Given the description of an element on the screen output the (x, y) to click on. 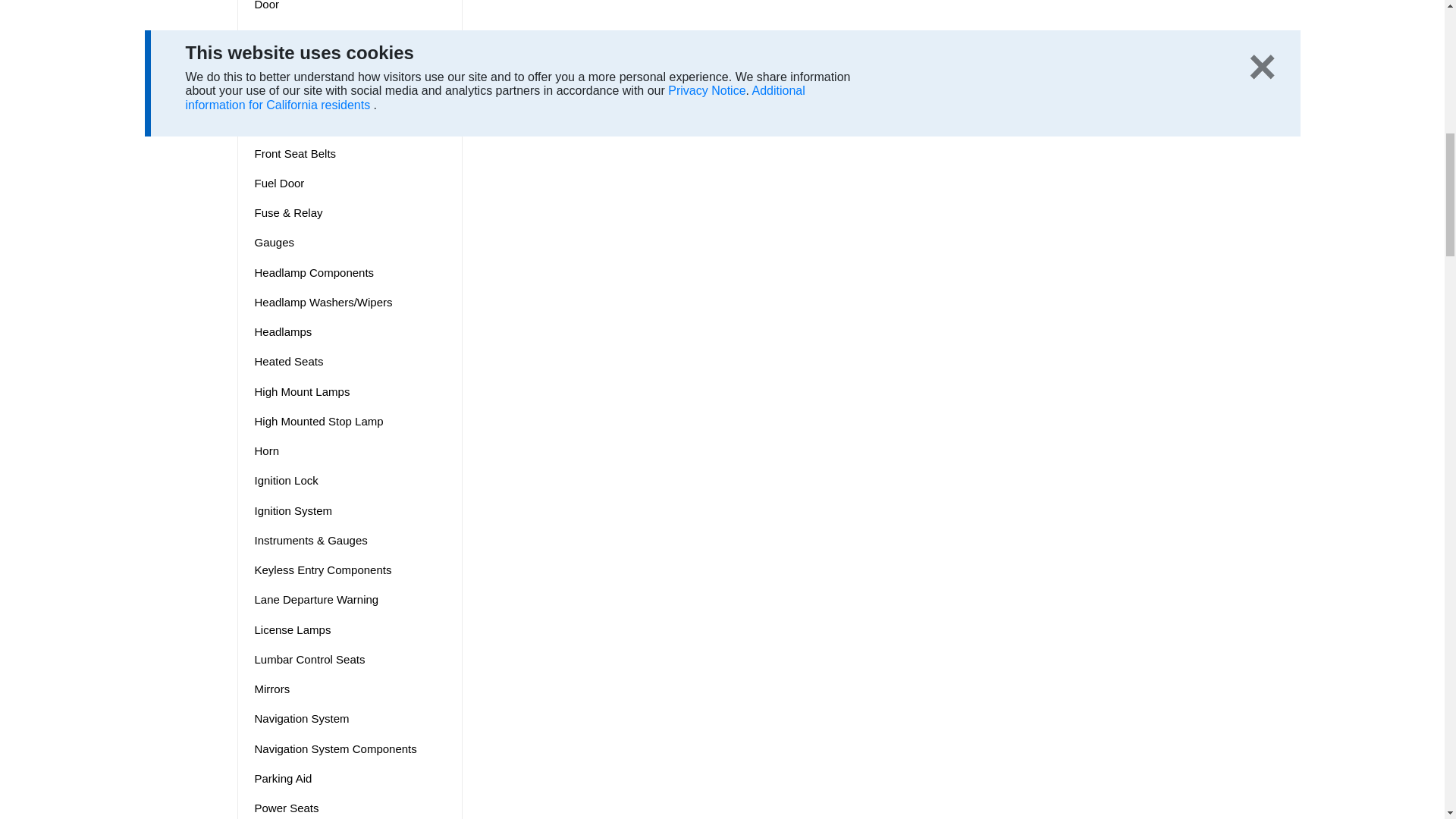
Fog Lamps (350, 64)
Front Door (350, 93)
Front Marker Lamps (350, 123)
Door (350, 7)
Fuel Door (350, 182)
Front Seat Belts (350, 153)
Electrical Components (350, 34)
